Given the description of an element on the screen output the (x, y) to click on. 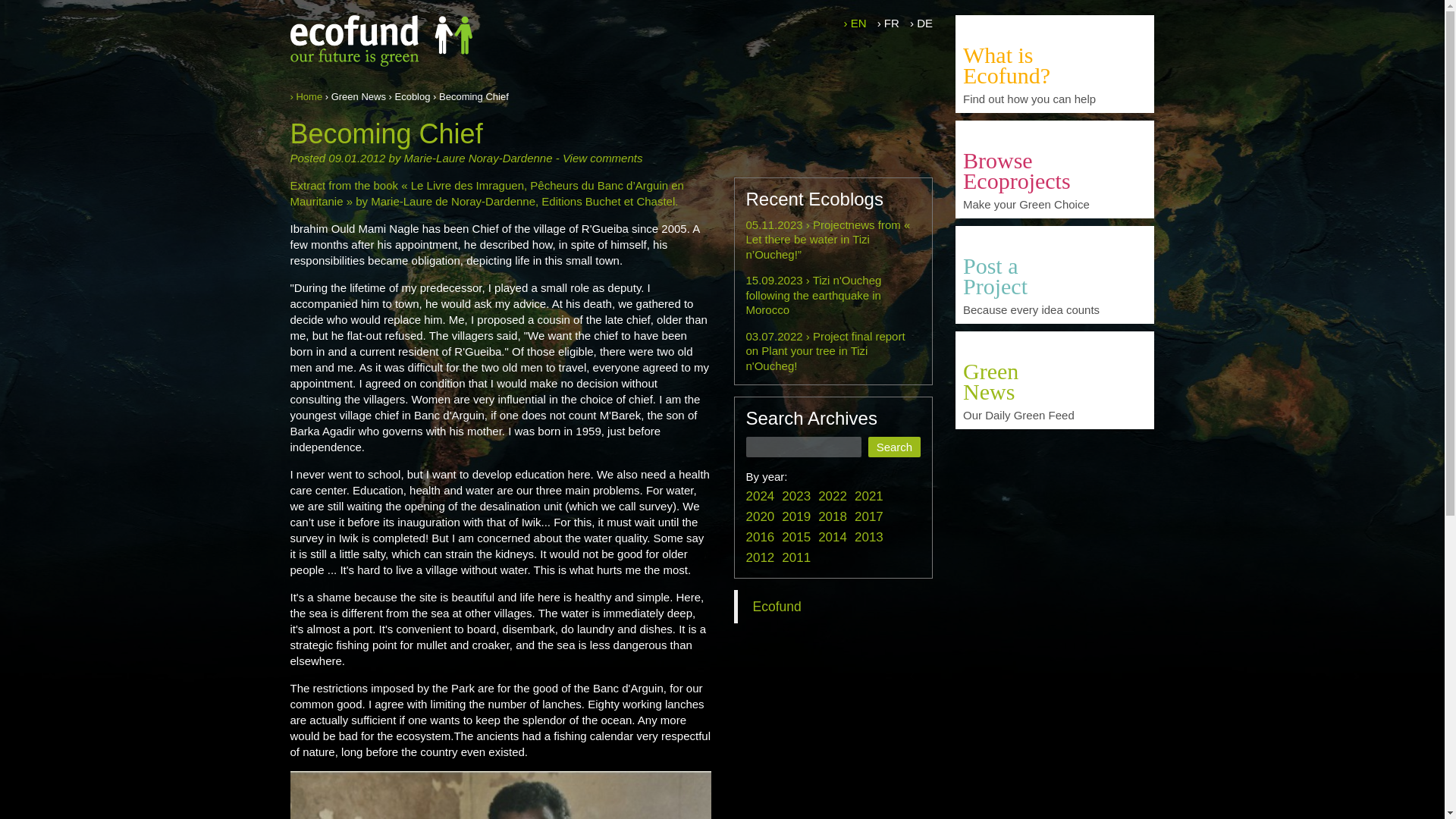
Search (893, 446)
Archives (1054, 412)
FAQ (1054, 307)
How it Works (1054, 63)
Meet the Team (1054, 96)
The Story Behind (1054, 31)
2019 (795, 516)
2024 (759, 495)
2012 (759, 557)
2023 (795, 495)
2015 (795, 536)
Search (893, 446)
2022 (832, 495)
Ecofund (776, 606)
2011 (795, 557)
